Given the description of an element on the screen output the (x, y) to click on. 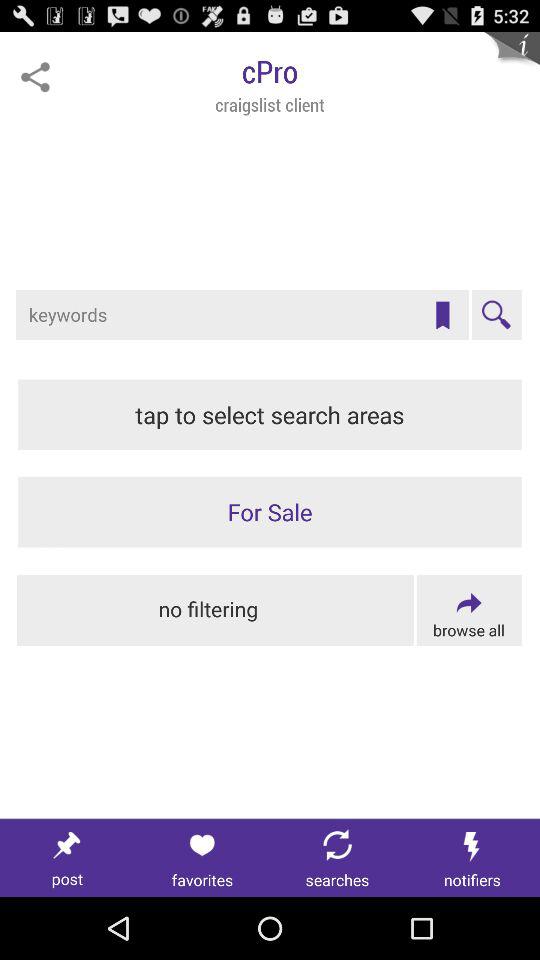
show post (67, 858)
